Given the description of an element on the screen output the (x, y) to click on. 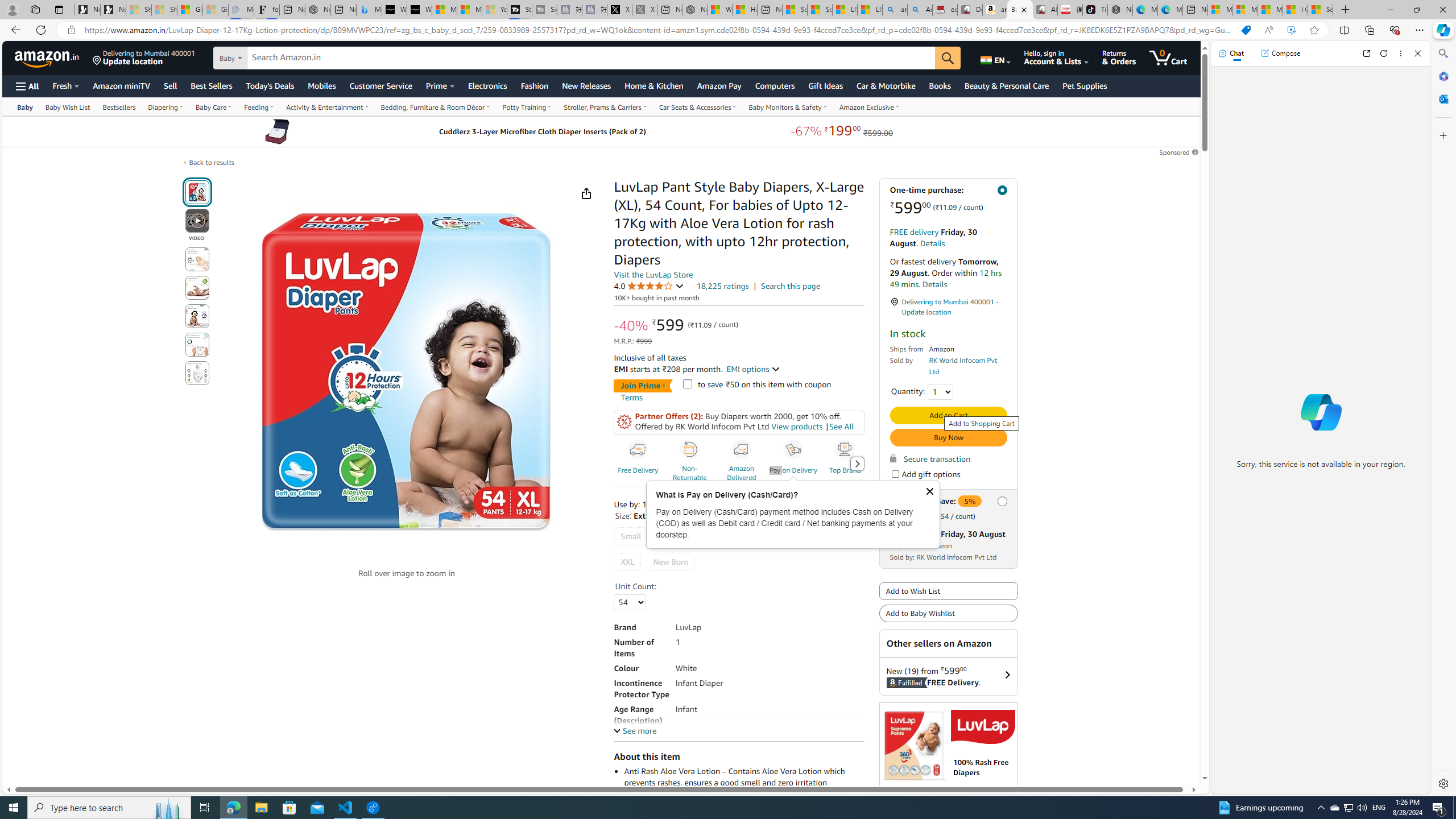
Microsoft Bing Travel - Shangri-La Hotel Bangkok (368, 9)
Streaming Coverage | T3 (519, 9)
Newsletter Sign Up (113, 9)
Huge shark washes ashore at New York City beach | Watch (744, 9)
All Cubot phones (1044, 9)
I Gained 20 Pounds of Muscle in 30 Days! | Watch (1295, 9)
Address and search bar (658, 29)
Chat (1231, 52)
X (619, 9)
Nordace - My Account (694, 9)
